Given the description of an element on the screen output the (x, y) to click on. 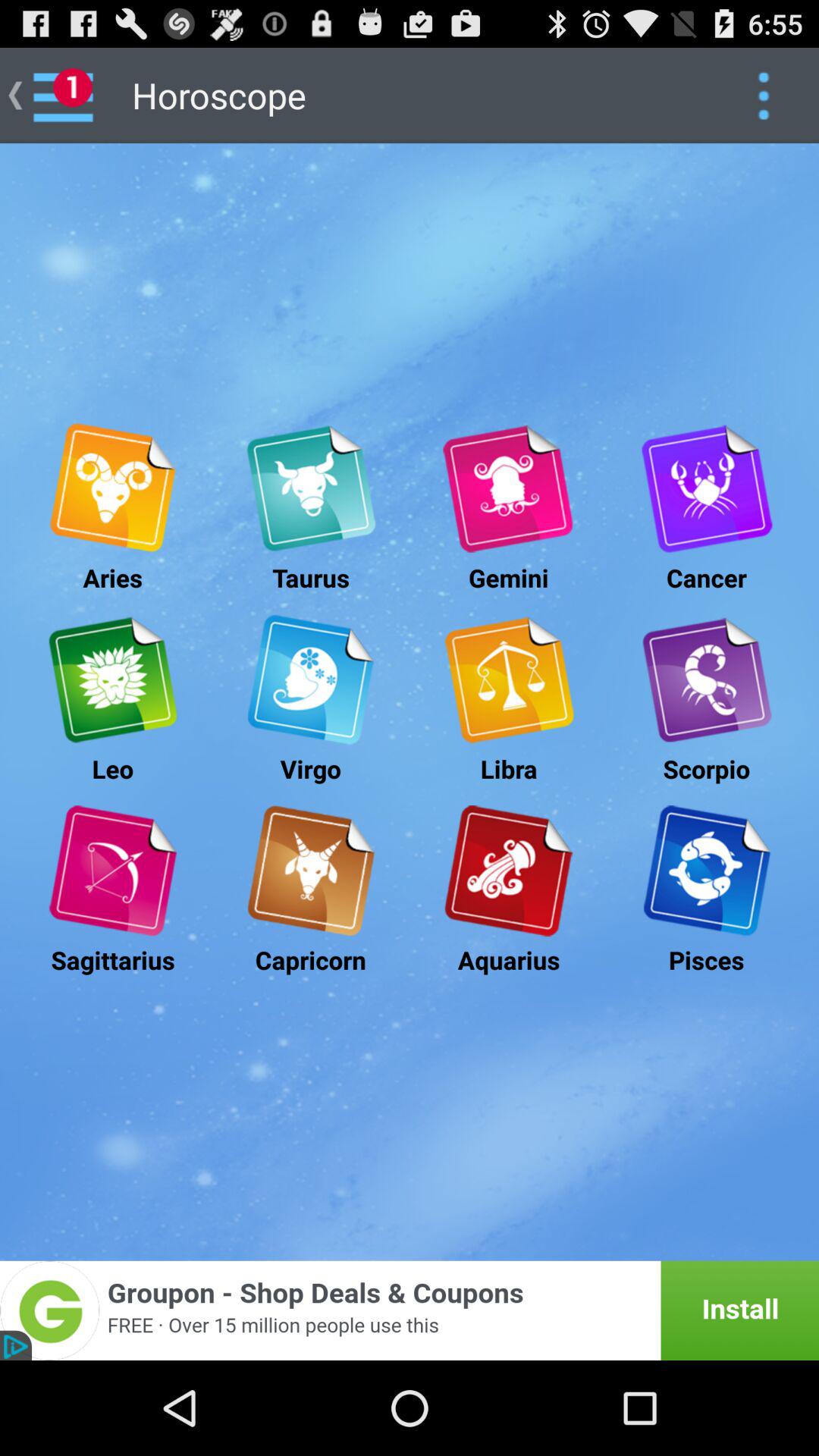
advertisement about groupon deals coupons (409, 1310)
